Given the description of an element on the screen output the (x, y) to click on. 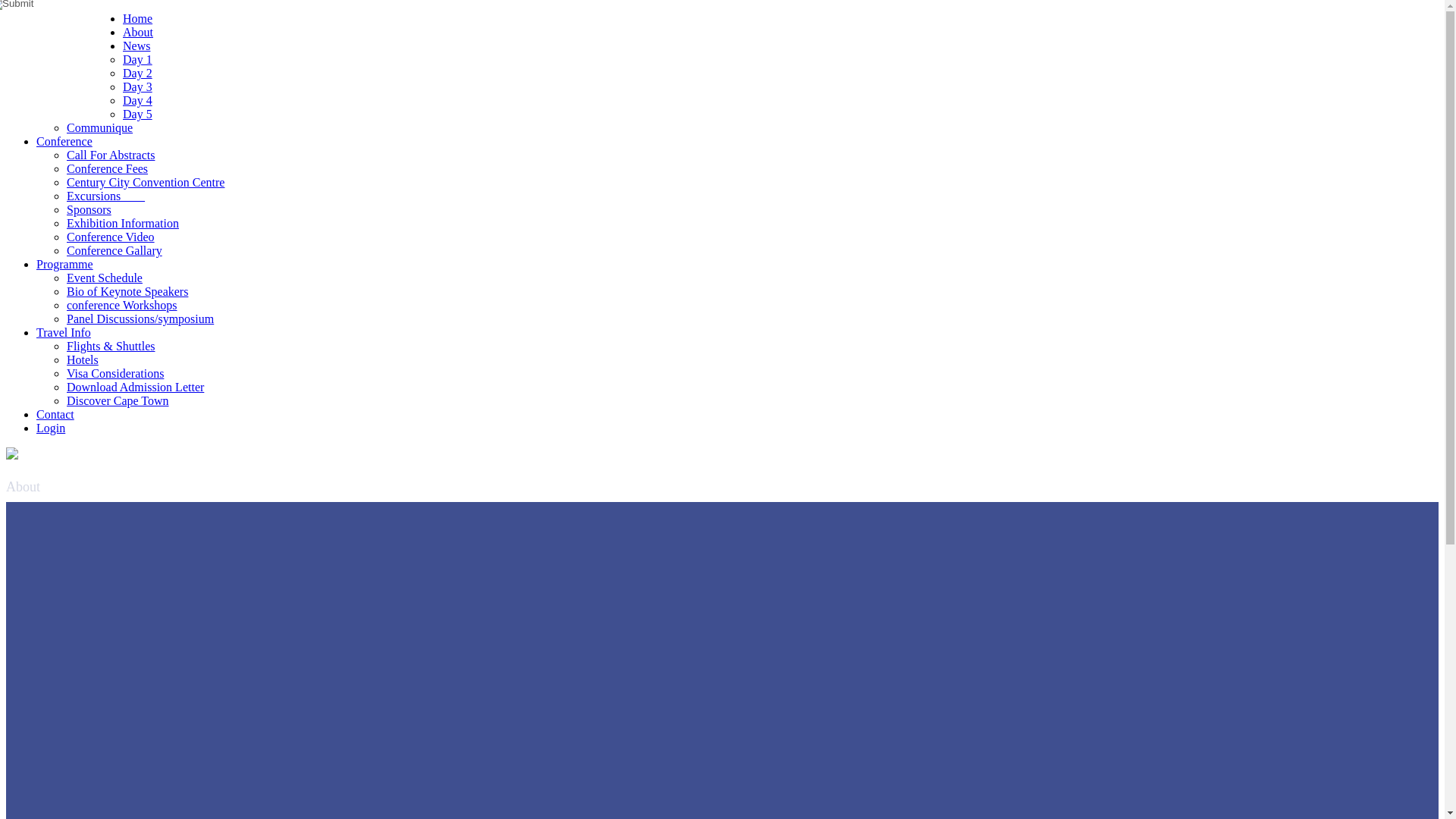
Day 3 (137, 86)
Conference Gallary (113, 250)
Day 2 (137, 72)
Discover Cape Town (117, 400)
News (135, 45)
Home (137, 18)
Programme (64, 264)
Excursions         (105, 195)
About (137, 31)
Exhibition Information (122, 223)
